Given the description of an element on the screen output the (x, y) to click on. 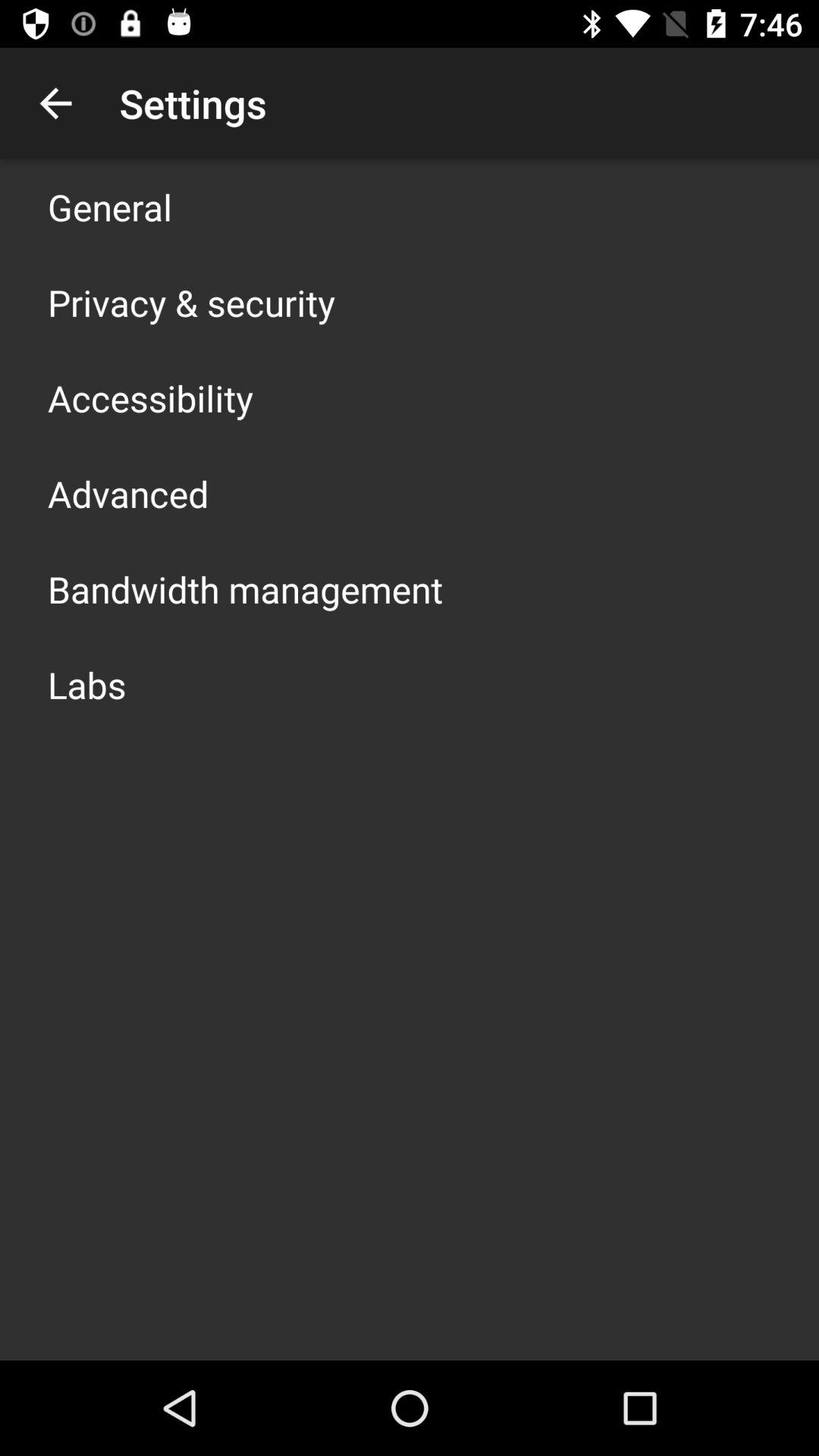
flip to general app (109, 206)
